Given the description of an element on the screen output the (x, y) to click on. 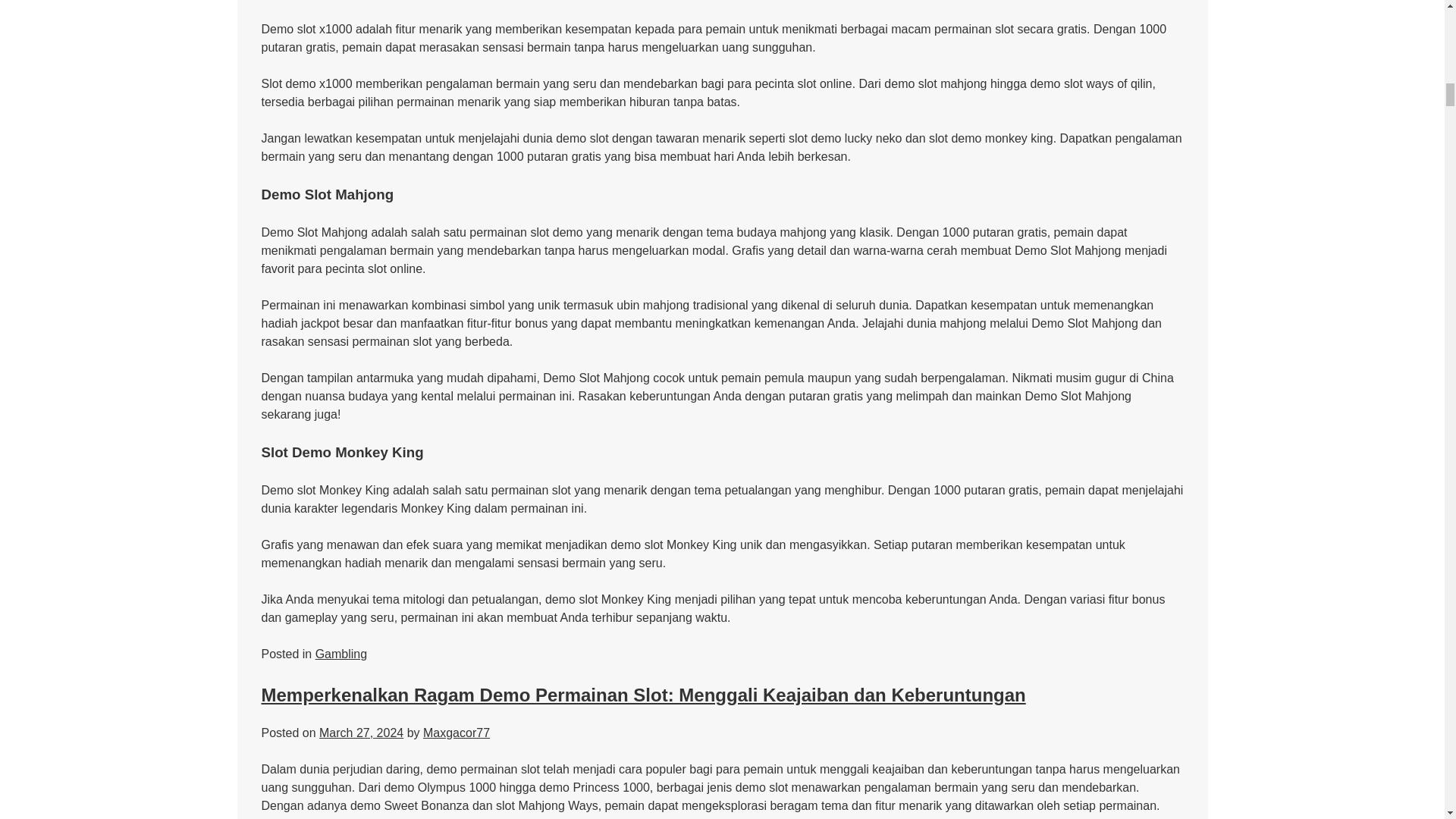
Gambling (340, 653)
March 27, 2024 (360, 732)
Maxgacor77 (456, 732)
